Given the description of an element on the screen output the (x, y) to click on. 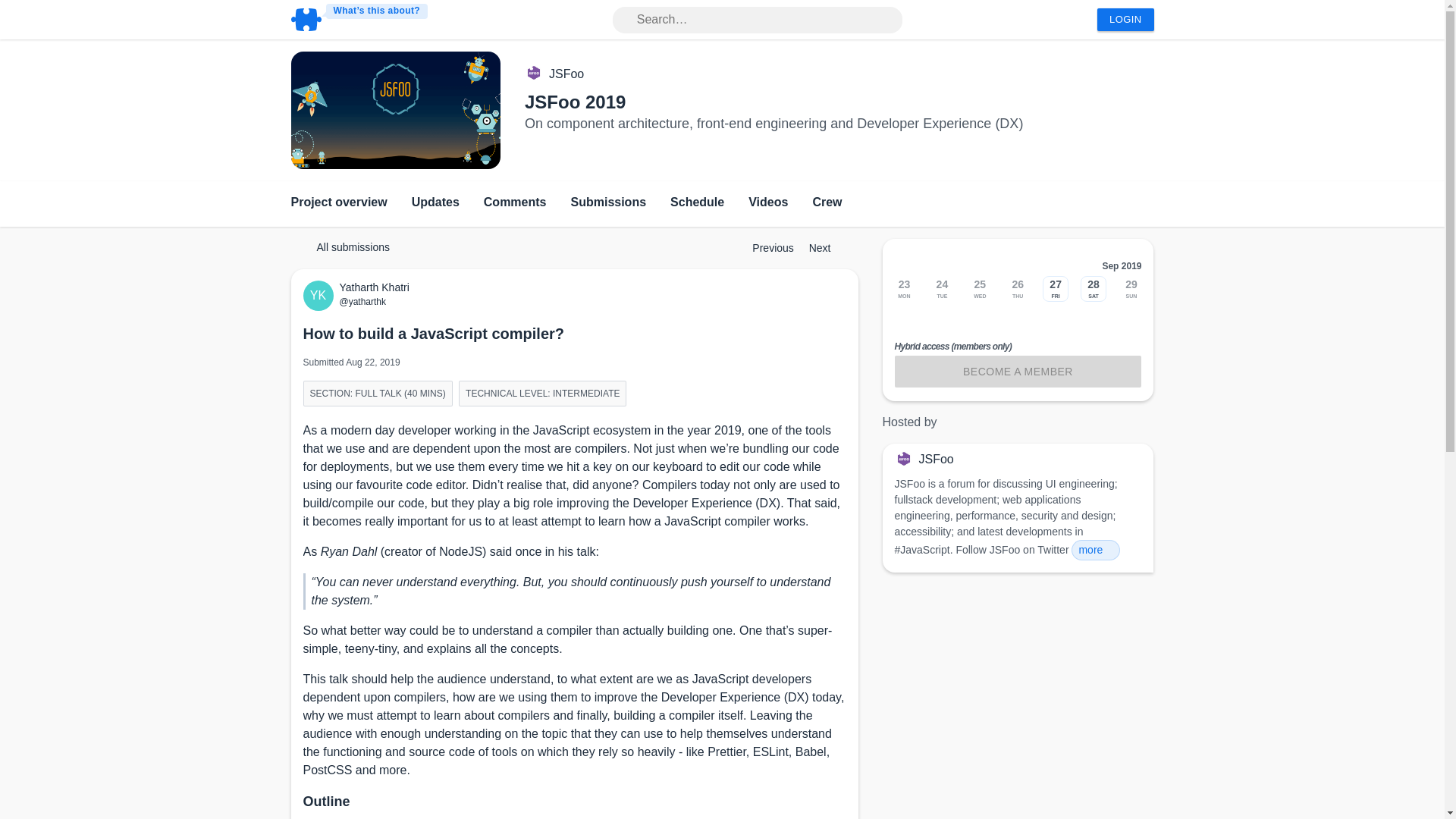
Submissions (608, 203)
JSFoo (565, 74)
LOGIN (1125, 19)
Updates (436, 203)
JSFoo 2019 (575, 101)
Schedule (696, 203)
Project overview (339, 203)
All submissions (346, 247)
Comments (515, 203)
YK (320, 295)
